Given the description of an element on the screen output the (x, y) to click on. 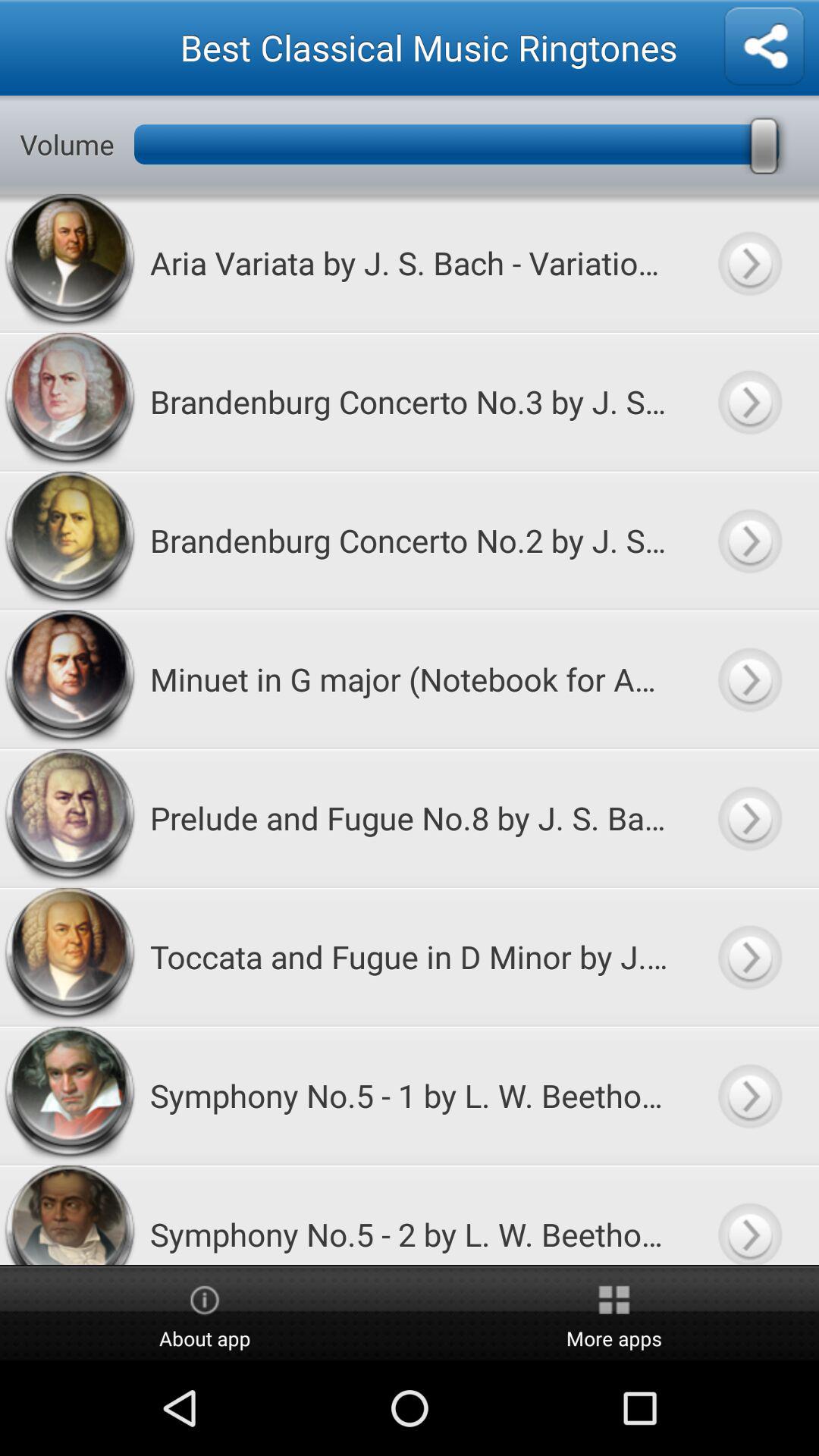
view more (749, 262)
